Given the description of an element on the screen output the (x, y) to click on. 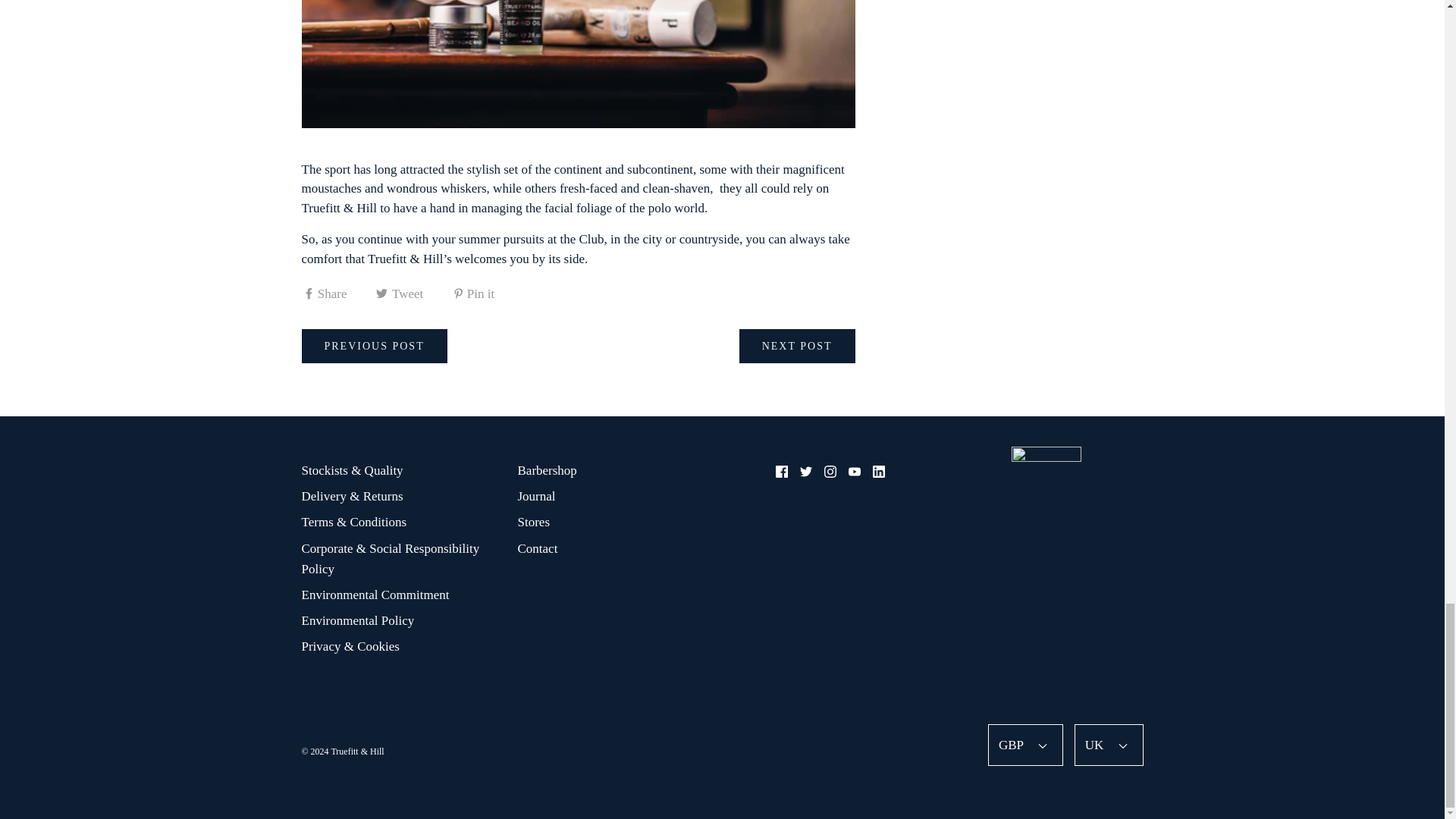
YouTube icon (854, 471)
Instagram icon (829, 471)
Facebook icon (781, 471)
Twitter icon (805, 471)
LinkedIn icon (878, 471)
